Given the description of an element on the screen output the (x, y) to click on. 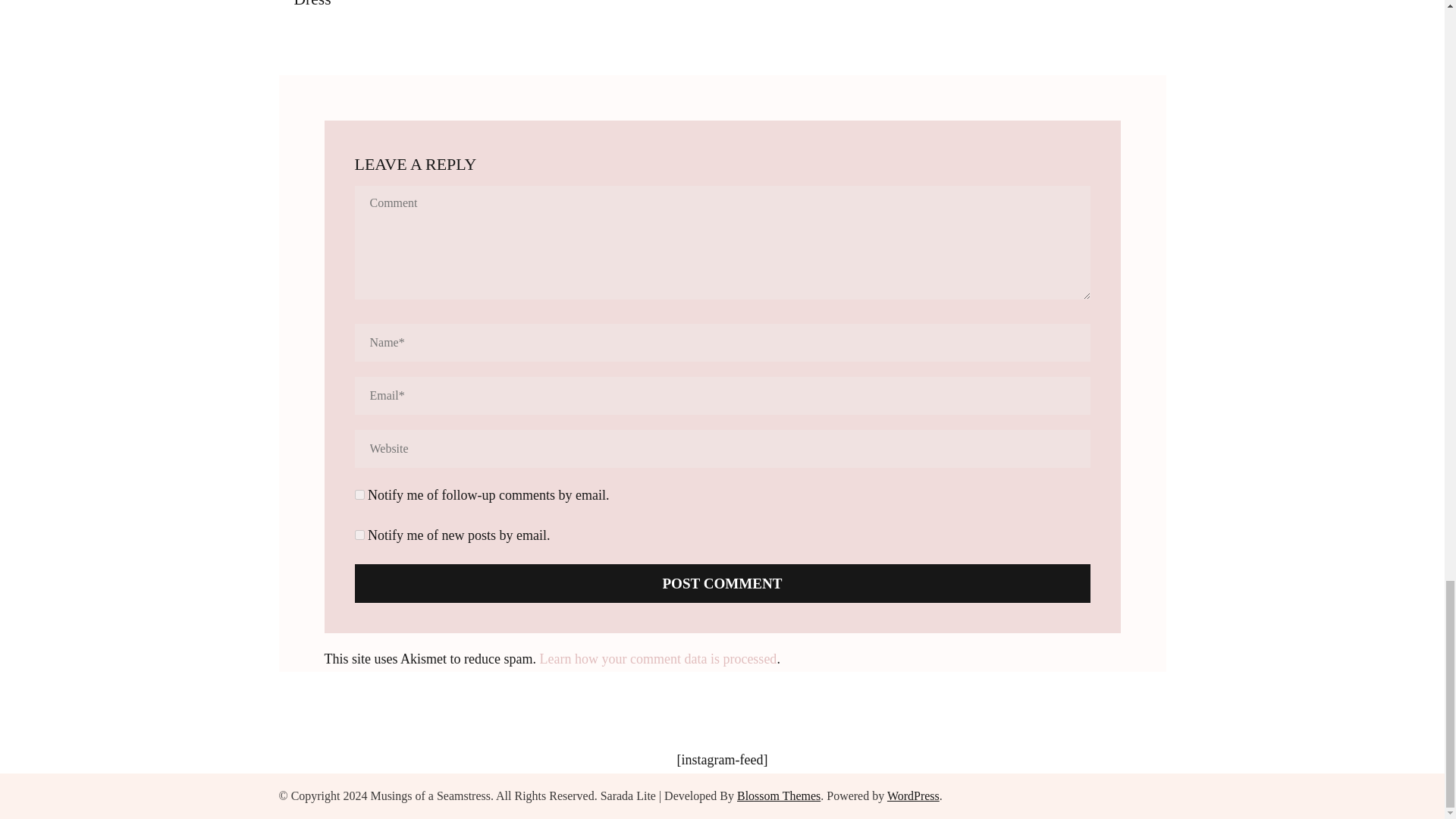
subscribe (360, 534)
subscribe (360, 494)
Sew Americana Tour: Patriotic Shirt Dress (413, 4)
Post Comment (722, 583)
